Given the description of an element on the screen output the (x, y) to click on. 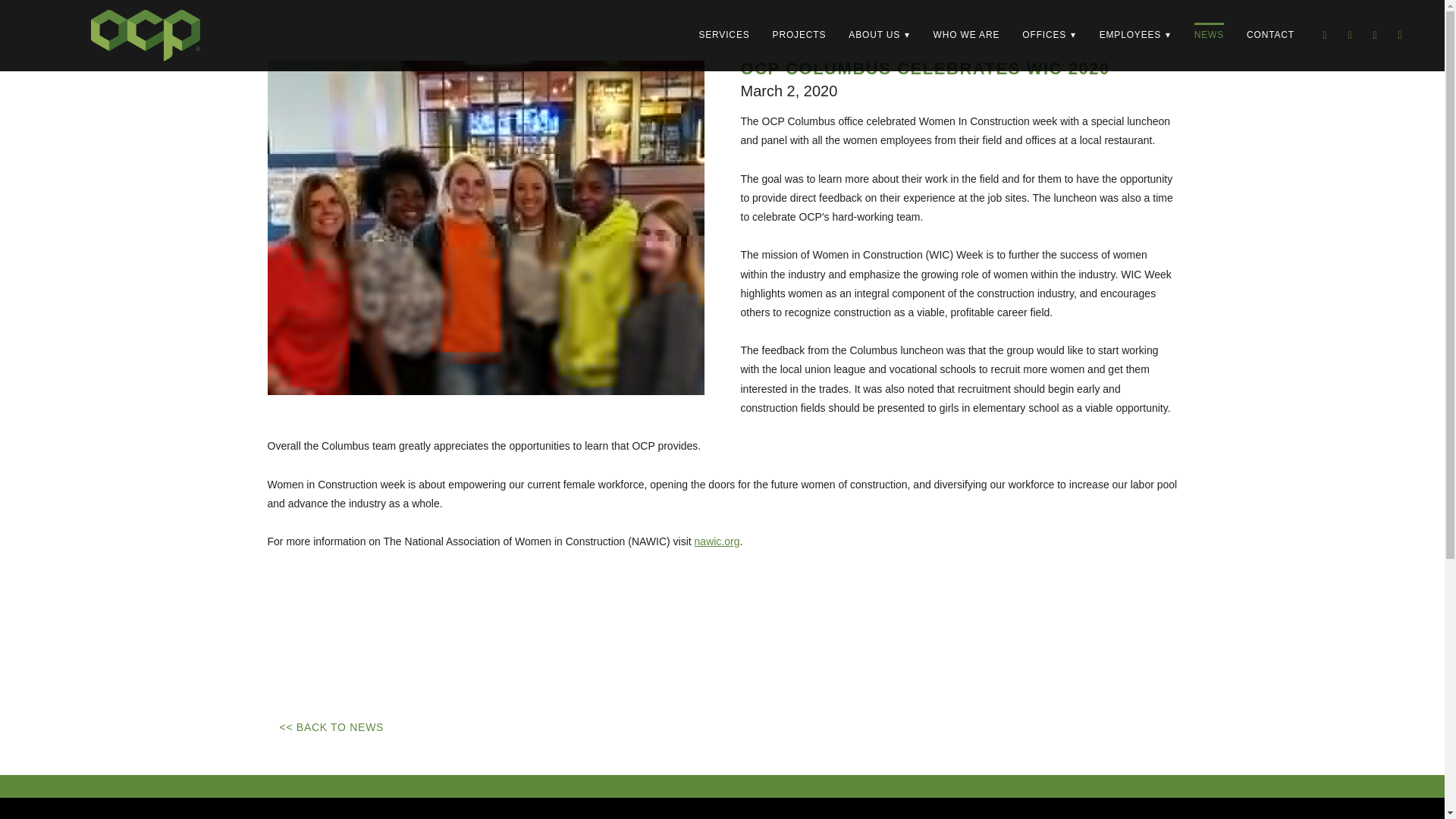
WHO WE ARE (966, 35)
SERVICES (723, 35)
PROJECTS (800, 35)
OCP Contractors (145, 35)
CONTACT (1270, 35)
nawic.org (716, 541)
NEWS (1208, 35)
